Given the description of an element on the screen output the (x, y) to click on. 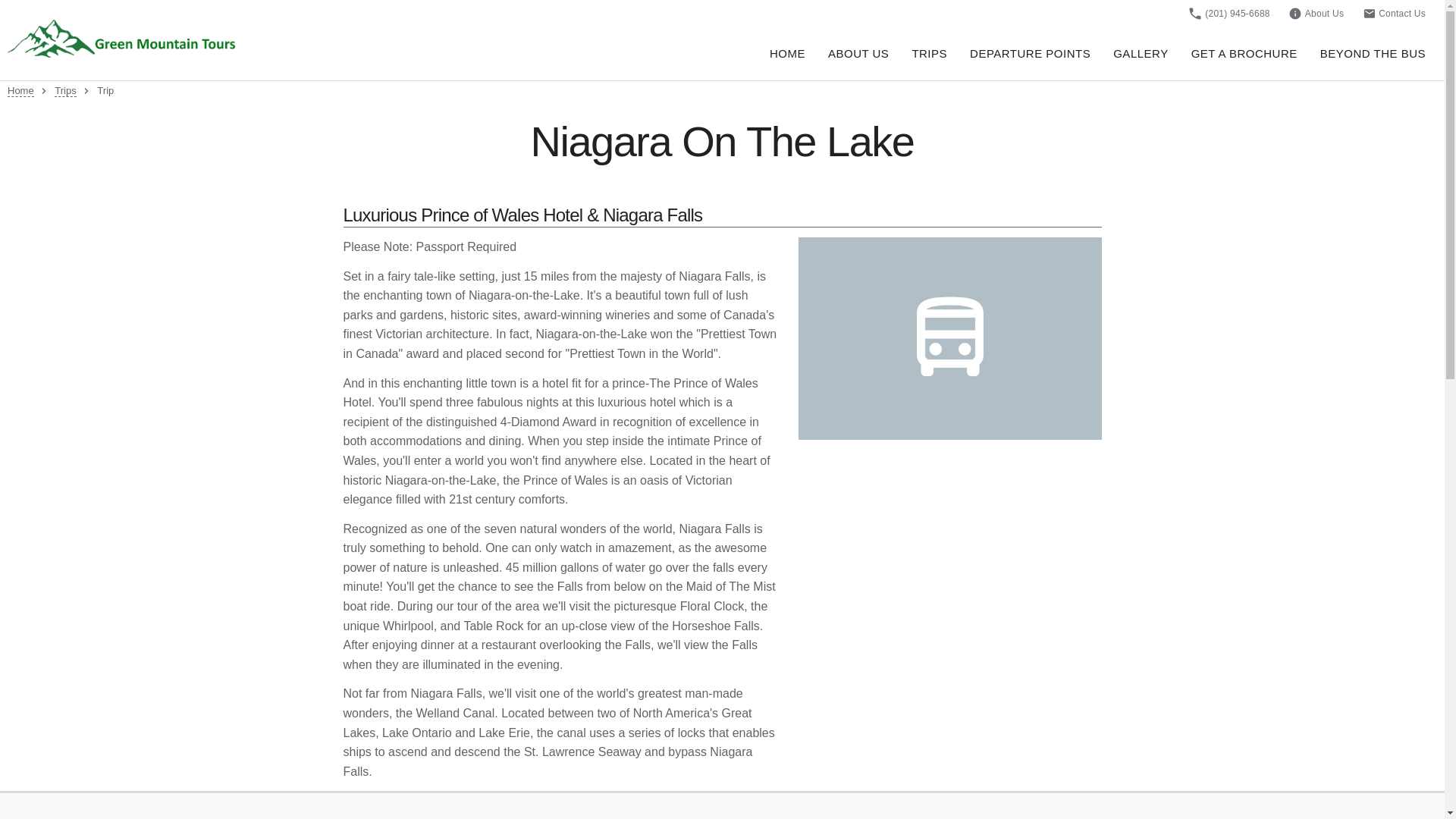
Contact Us (1393, 13)
ABOUT US (867, 53)
About Us (1315, 13)
Home (20, 91)
HOME (797, 53)
GET A BROCHURE (1253, 53)
DEPARTURE POINTS (1039, 53)
Green Mountain Tours Home Page (120, 38)
TRIPS (938, 53)
GALLERY (1149, 53)
Trips (65, 91)
